Given the description of an element on the screen output the (x, y) to click on. 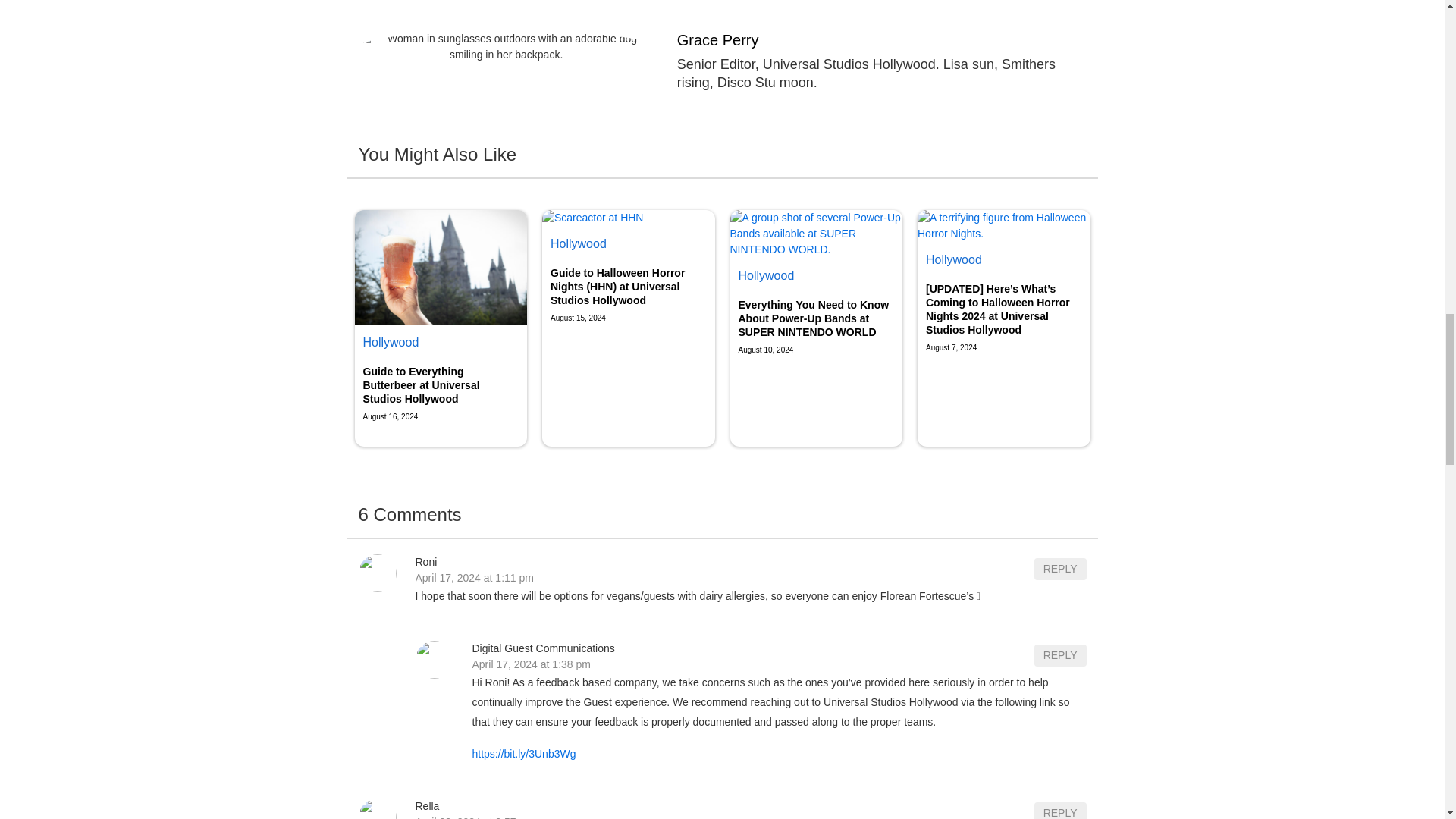
Posts by Grace Perry (881, 40)
